Given the description of an element on the screen output the (x, y) to click on. 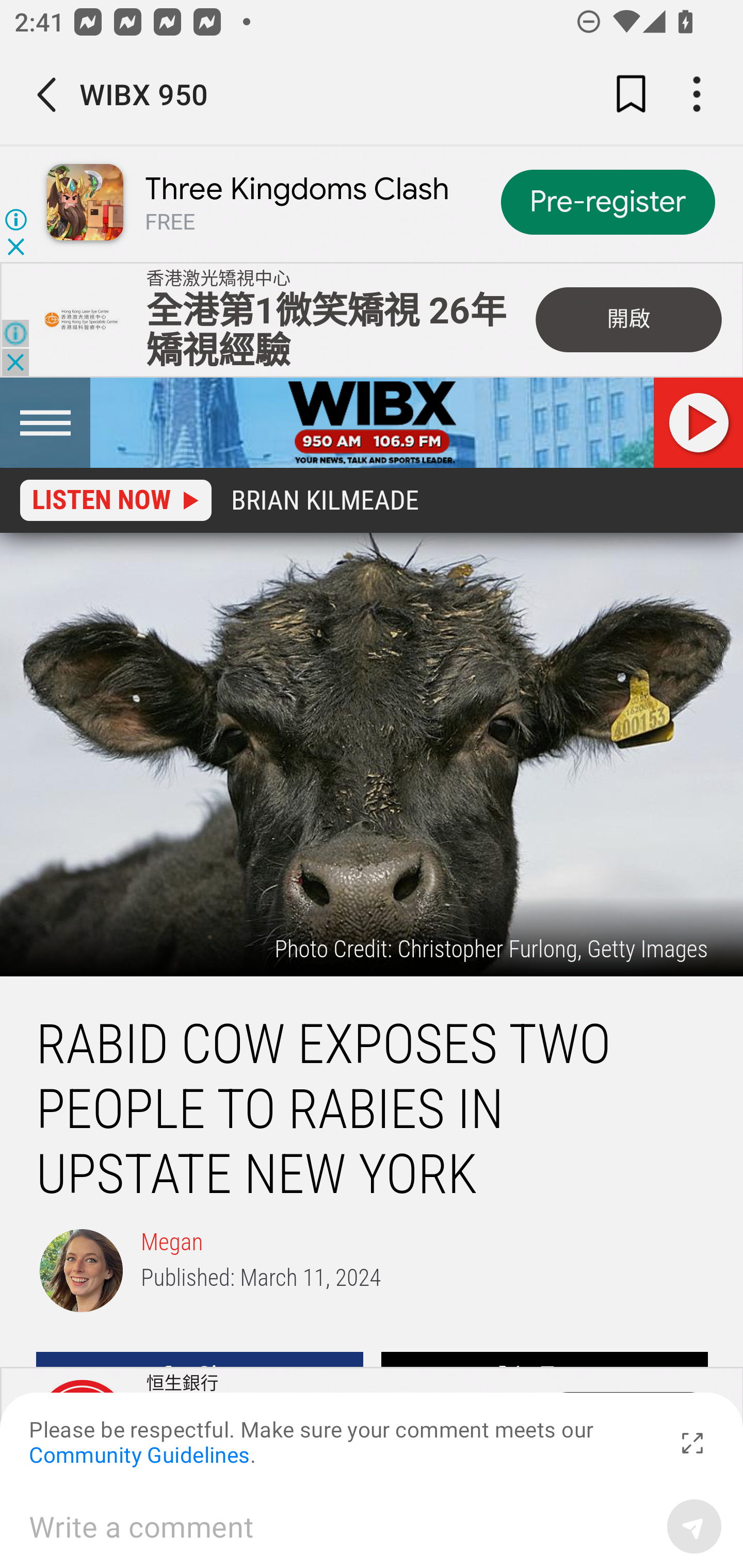
Write a comment (340, 1526)
